Given the description of an element on the screen output the (x, y) to click on. 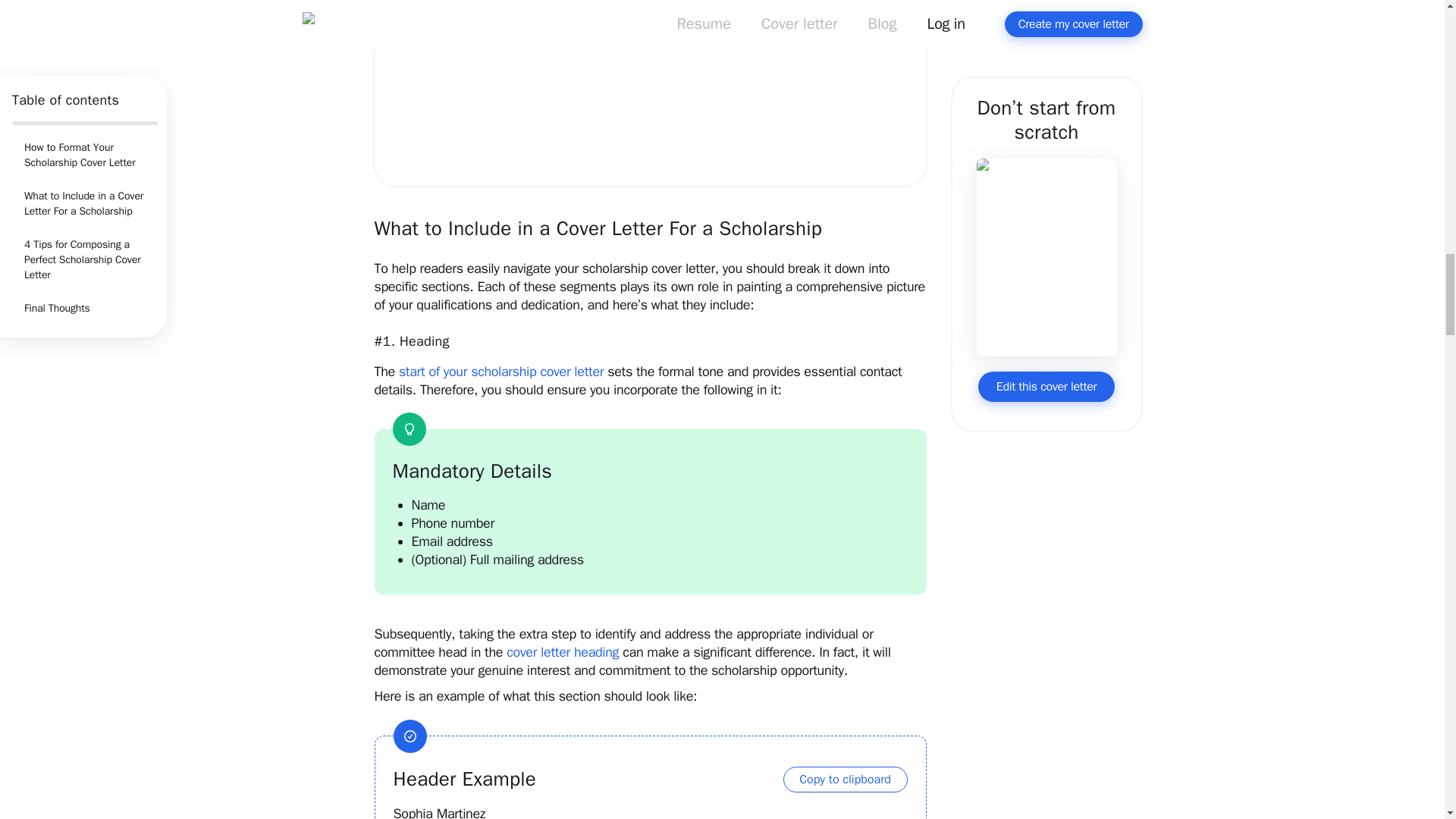
start of your scholarship cover letter (501, 371)
Copy to clipboard (845, 779)
cover letter heading (562, 651)
